Given the description of an element on the screen output the (x, y) to click on. 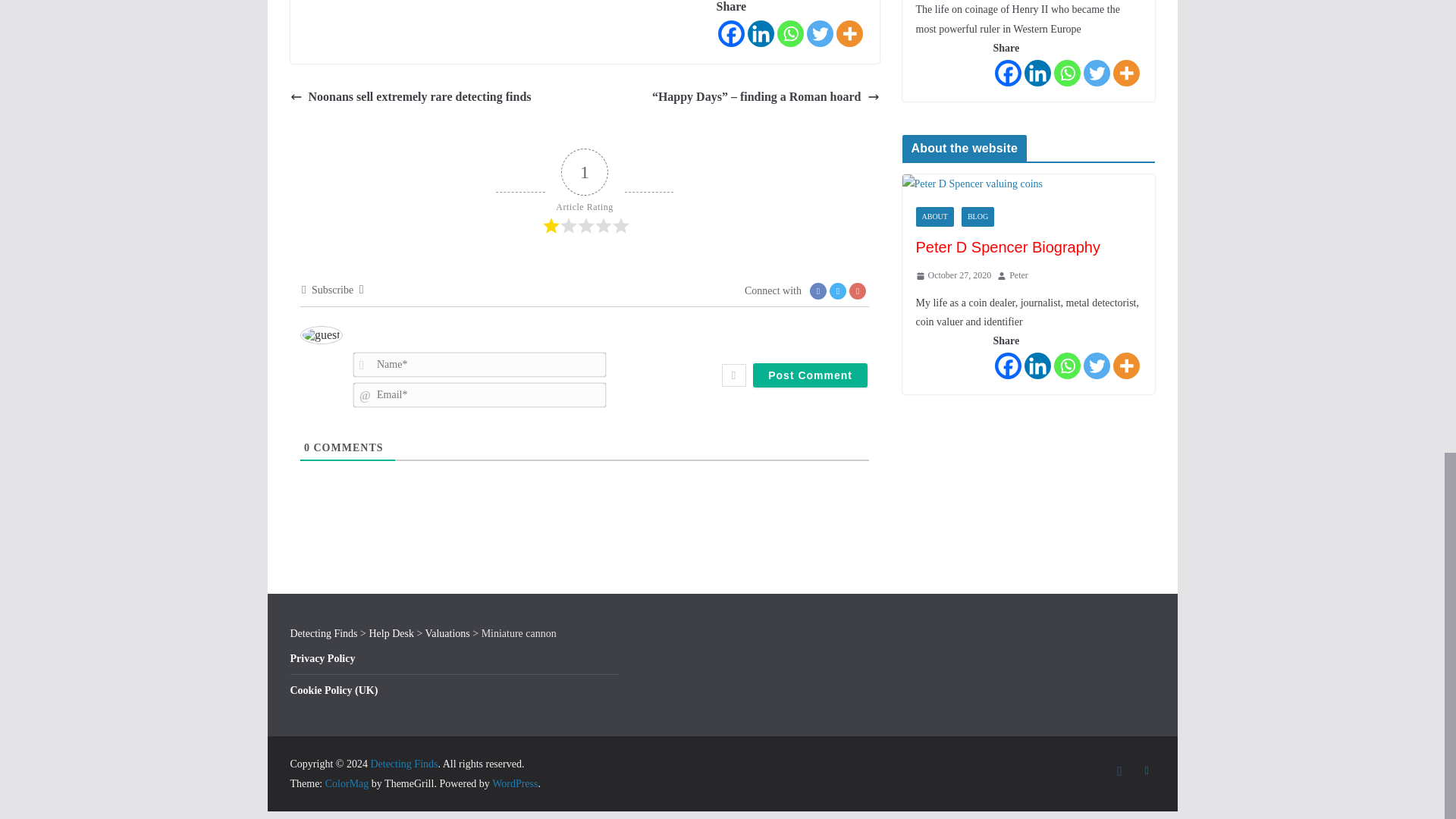
Noonans sell extremely rare detecting finds (410, 97)
Facebook (730, 33)
More (848, 33)
Twitter (819, 33)
Post Comment (809, 375)
Linkedin (761, 33)
Whatsapp (789, 33)
